Given the description of an element on the screen output the (x, y) to click on. 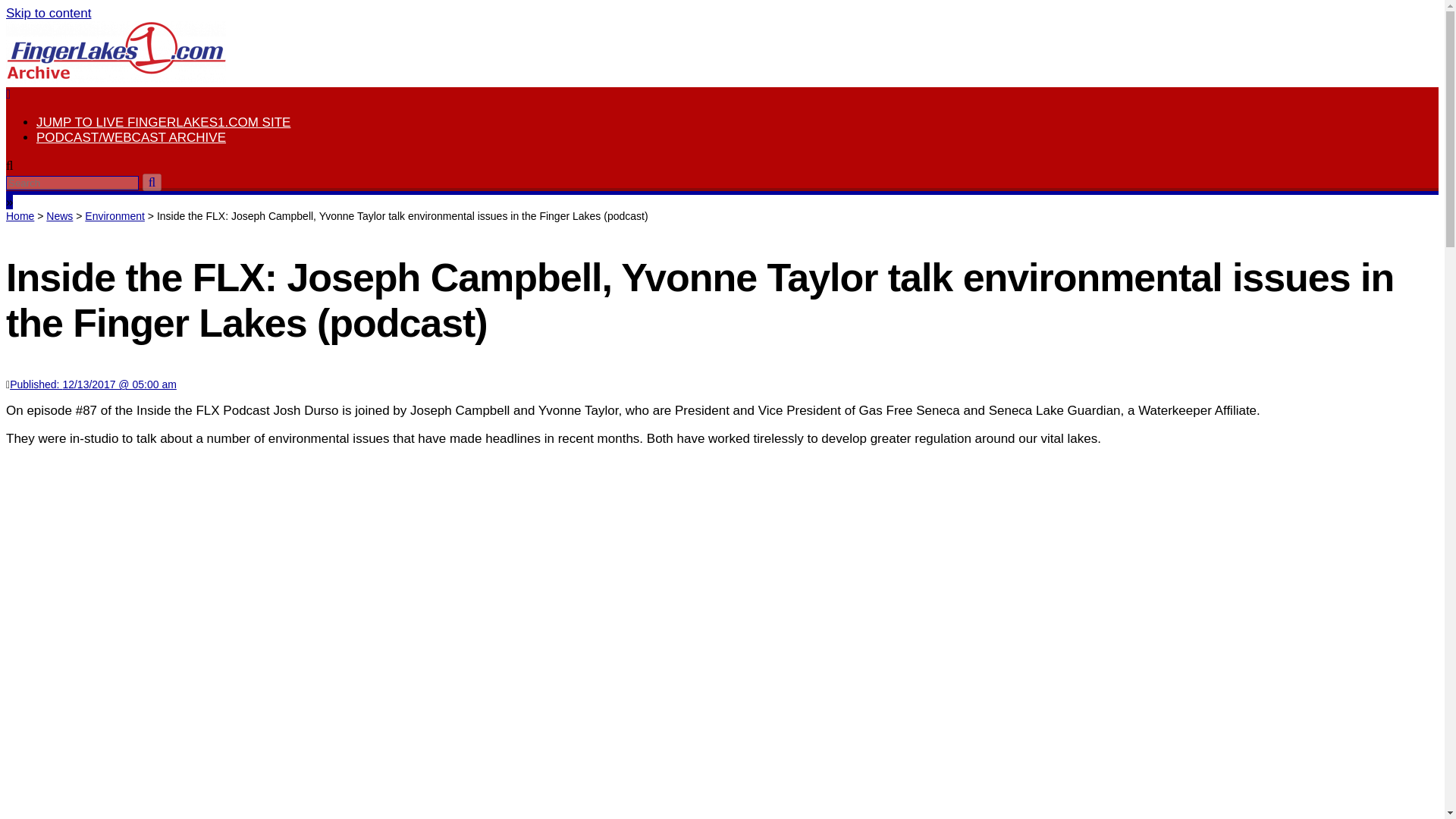
Home (19, 215)
JUMP TO LIVE FINGERLAKES1.COM SITE (162, 122)
Skip to content (47, 12)
link (47, 12)
News (59, 215)
Environment (114, 215)
